Given the description of an element on the screen output the (x, y) to click on. 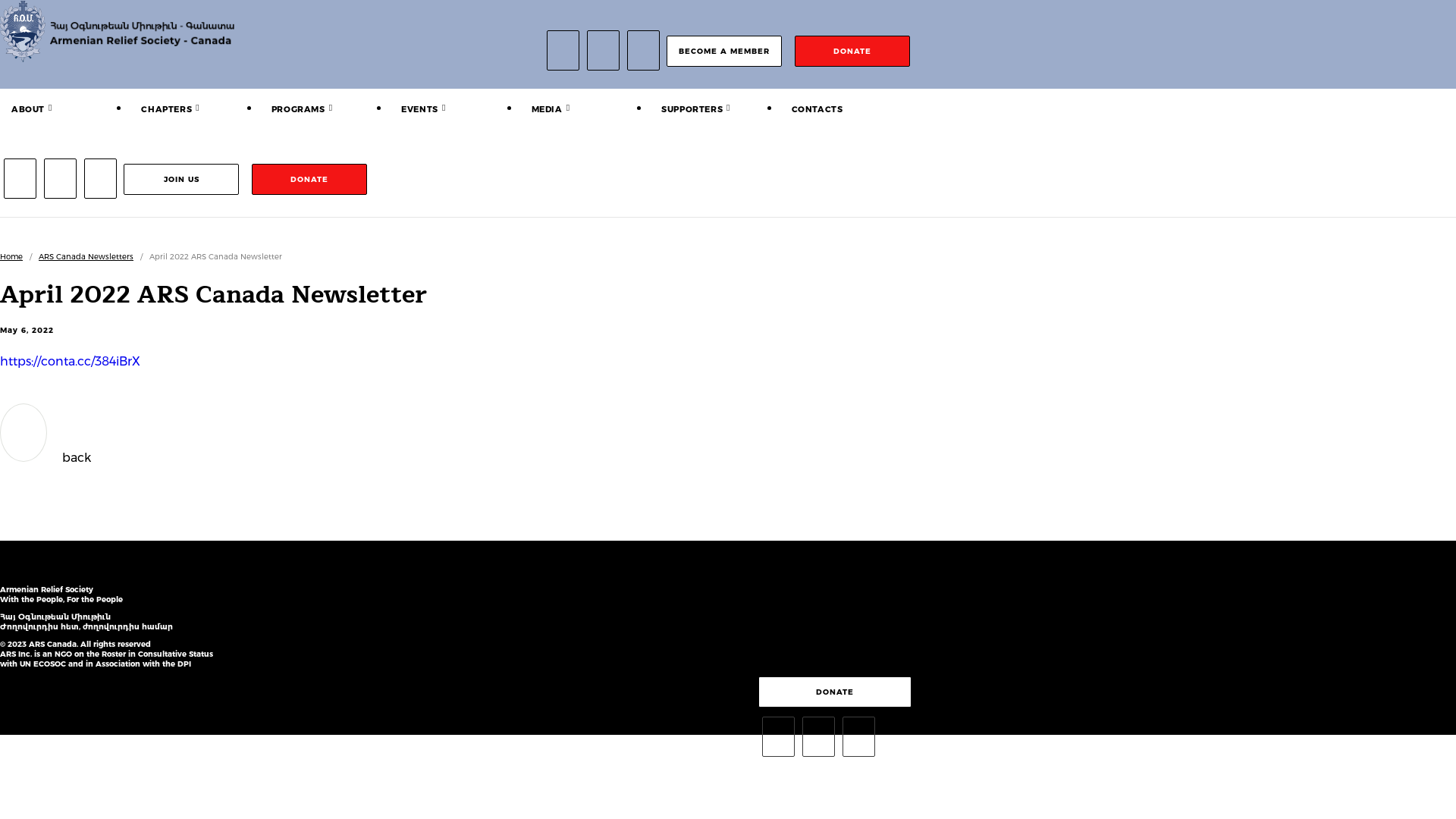
Home Element type: text (11, 256)
MEDIA Element type: text (547, 108)
https://conta.cc/384iBrX Element type: text (70, 361)
DONATE Element type: text (852, 50)
EVENTS Element type: text (419, 108)
DONATE Element type: text (309, 178)
CHAPTERS Element type: text (166, 108)
DONATE Element type: text (834, 691)
PROGRAMS Element type: text (298, 108)
Digilite Element type: text (807, 768)
BECOME A MEMBER Element type: text (723, 50)
JOIN US Element type: text (180, 178)
ARS Canada Newsletters Element type: text (85, 256)
ABOUT Element type: text (28, 108)
CONTACTS Element type: text (817, 108)
SUPPORTERS Element type: text (691, 108)
